Given the description of an element on the screen output the (x, y) to click on. 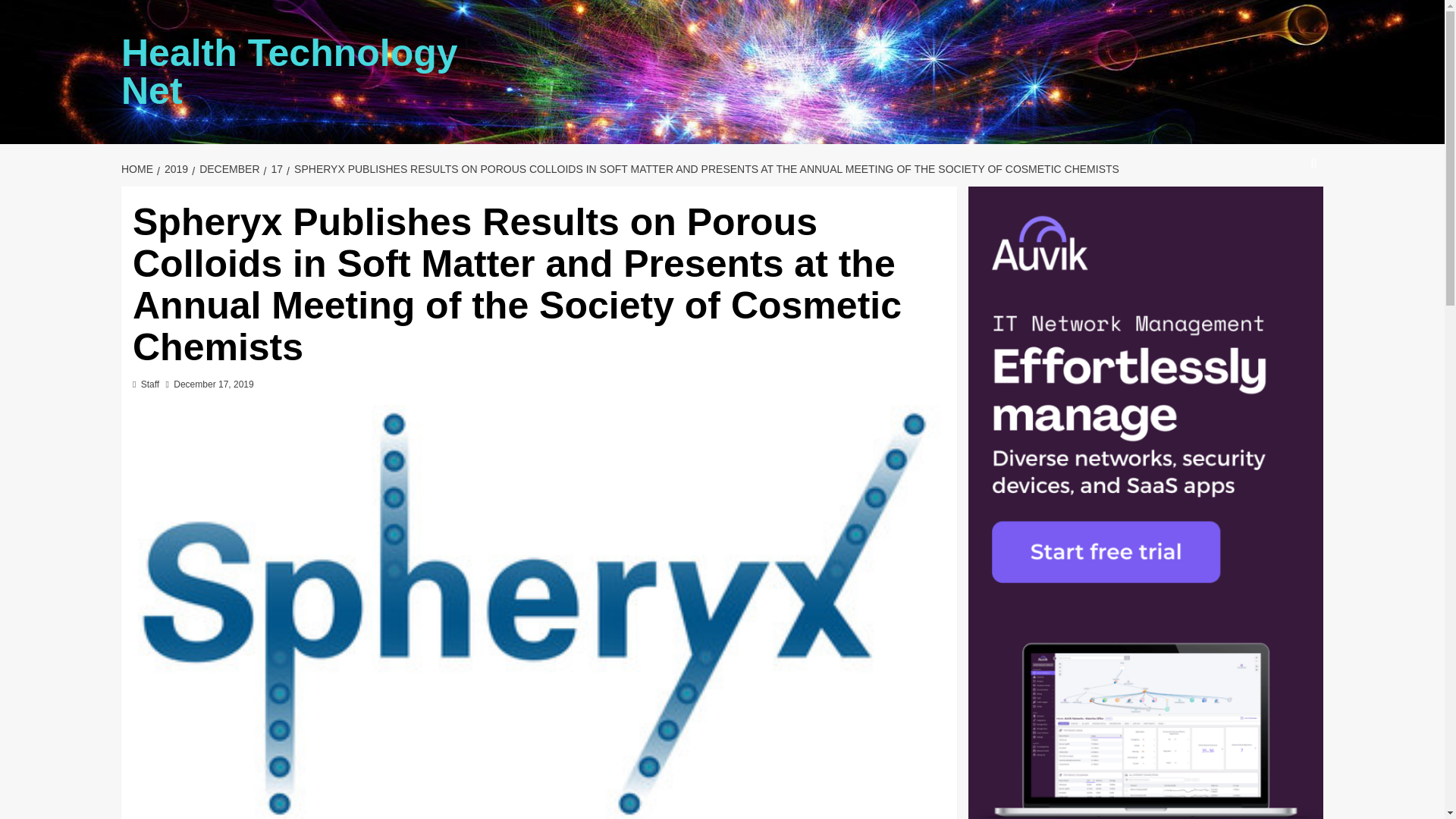
DECEMBER (227, 168)
2019 (174, 168)
December 17, 2019 (213, 384)
Search (1278, 209)
17 (274, 168)
Health Technology Net (289, 71)
Staff (149, 384)
HOME (138, 168)
